Given the description of an element on the screen output the (x, y) to click on. 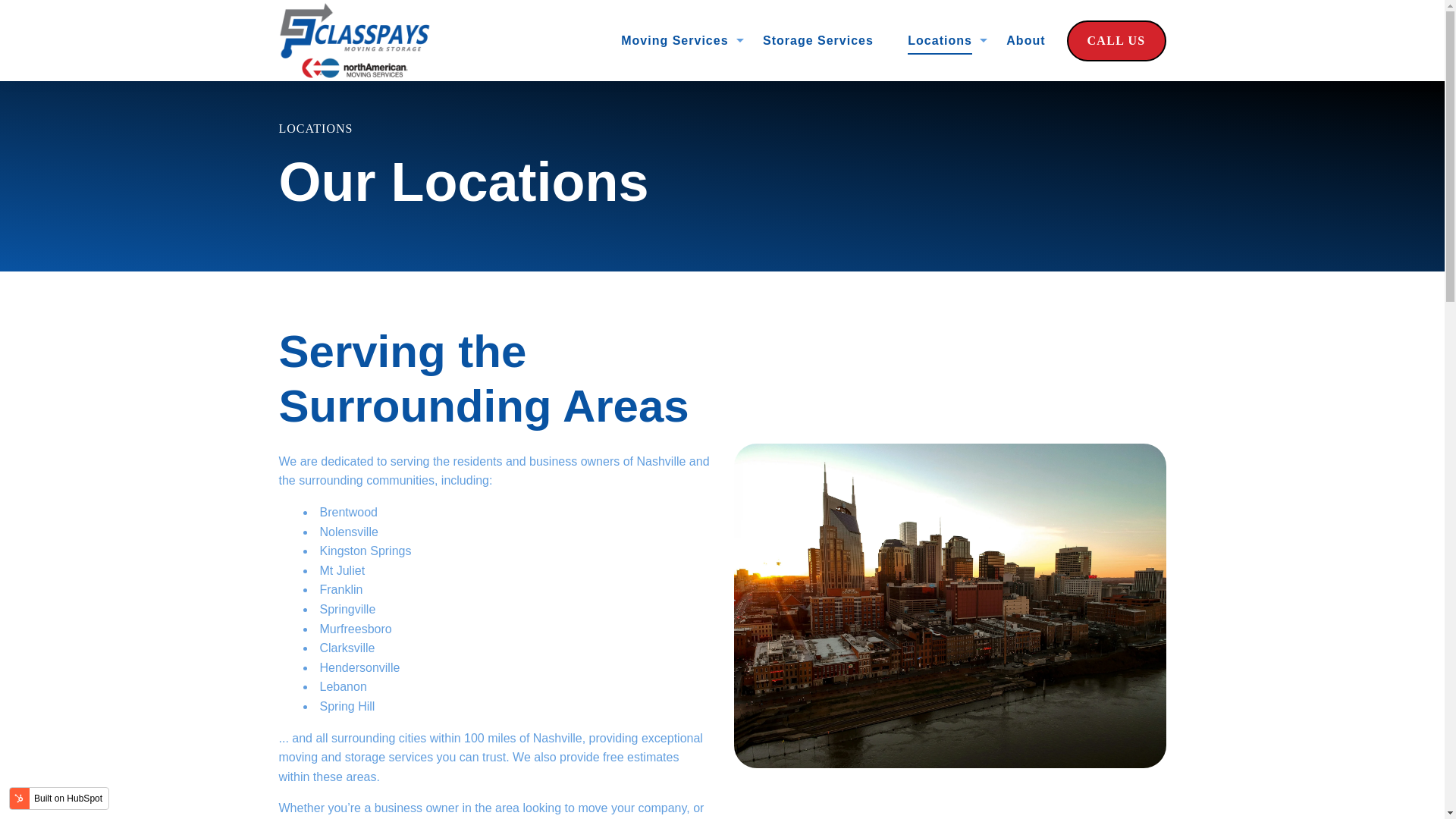
Moving Services (674, 40)
Locations (939, 40)
About (1025, 40)
Storage Services (817, 40)
CALL US (1116, 40)
Untitled design-2 (354, 40)
